Given the description of an element on the screen output the (x, y) to click on. 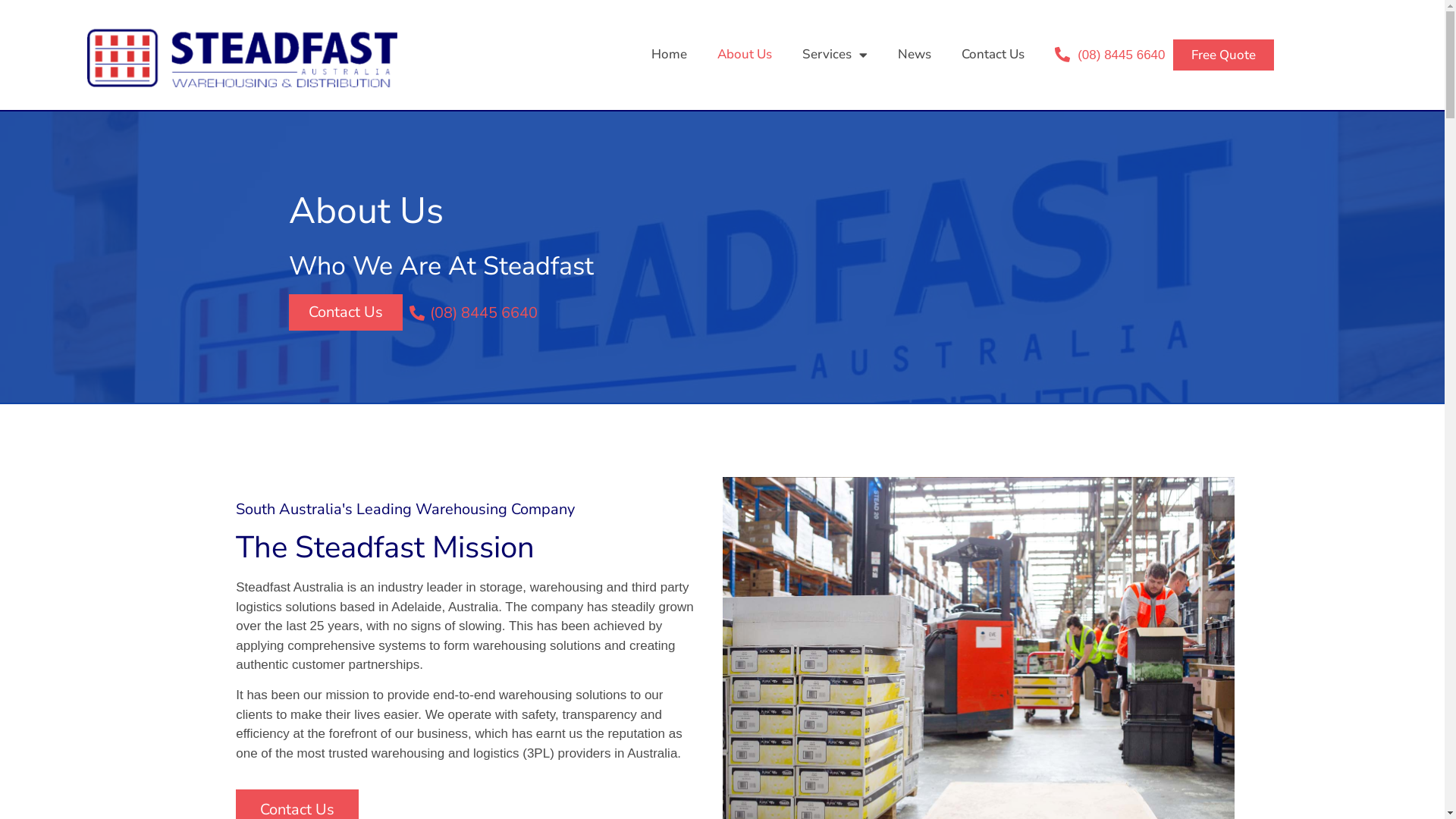
Contact Us Element type: text (992, 54)
Contact Us Element type: text (345, 312)
About Us Element type: text (744, 54)
(08) 8445 6640 Element type: text (472, 312)
Services Element type: text (834, 54)
News Element type: text (914, 54)
Home Element type: text (669, 54)
(08) 8445 6640 Element type: text (1109, 55)
Free Quote Element type: text (1223, 54)
